Given the description of an element on the screen output the (x, y) to click on. 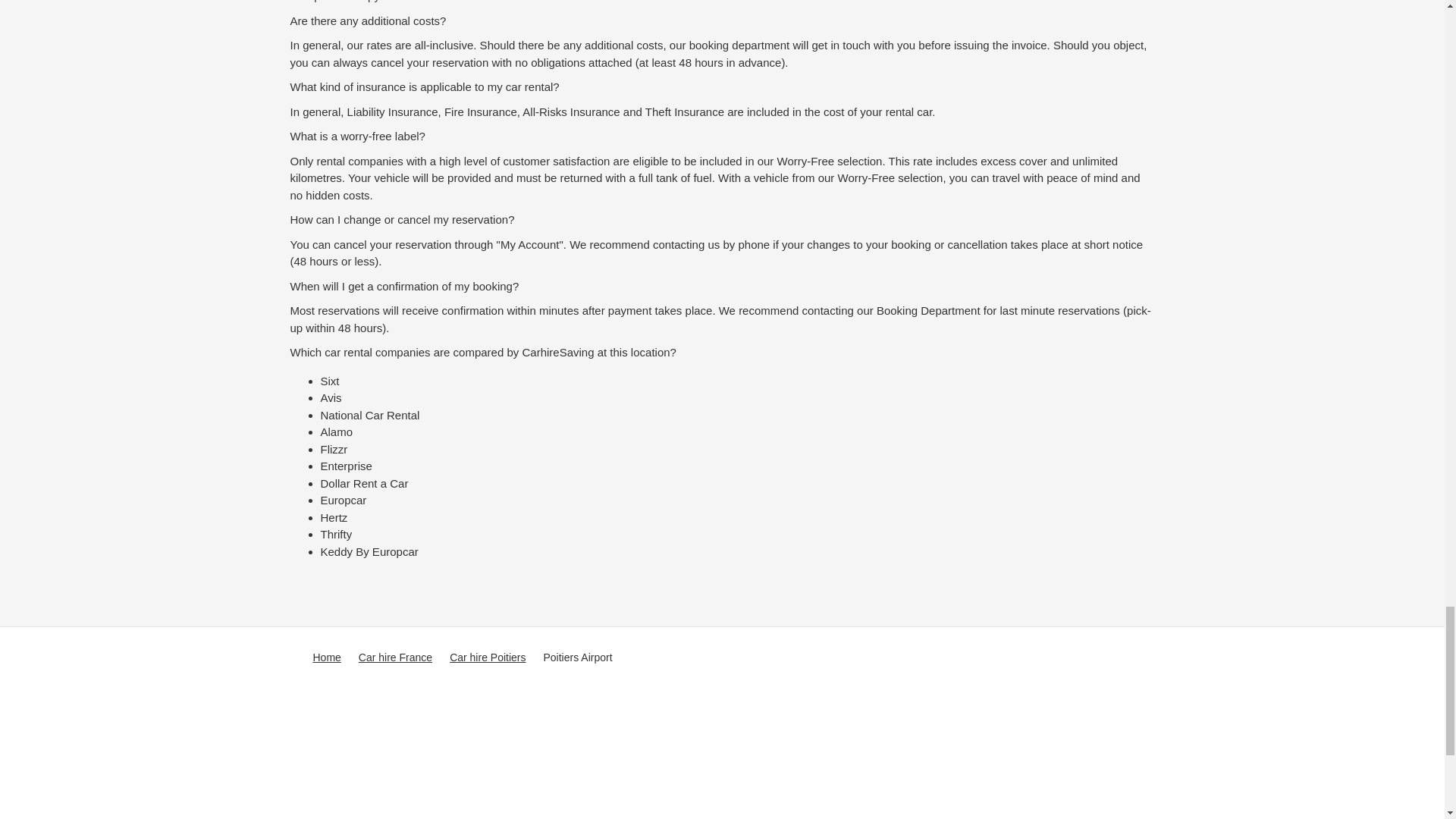
Car hire Poitiers (487, 657)
Car hire France (395, 657)
Home (326, 657)
